Given the description of an element on the screen output the (x, y) to click on. 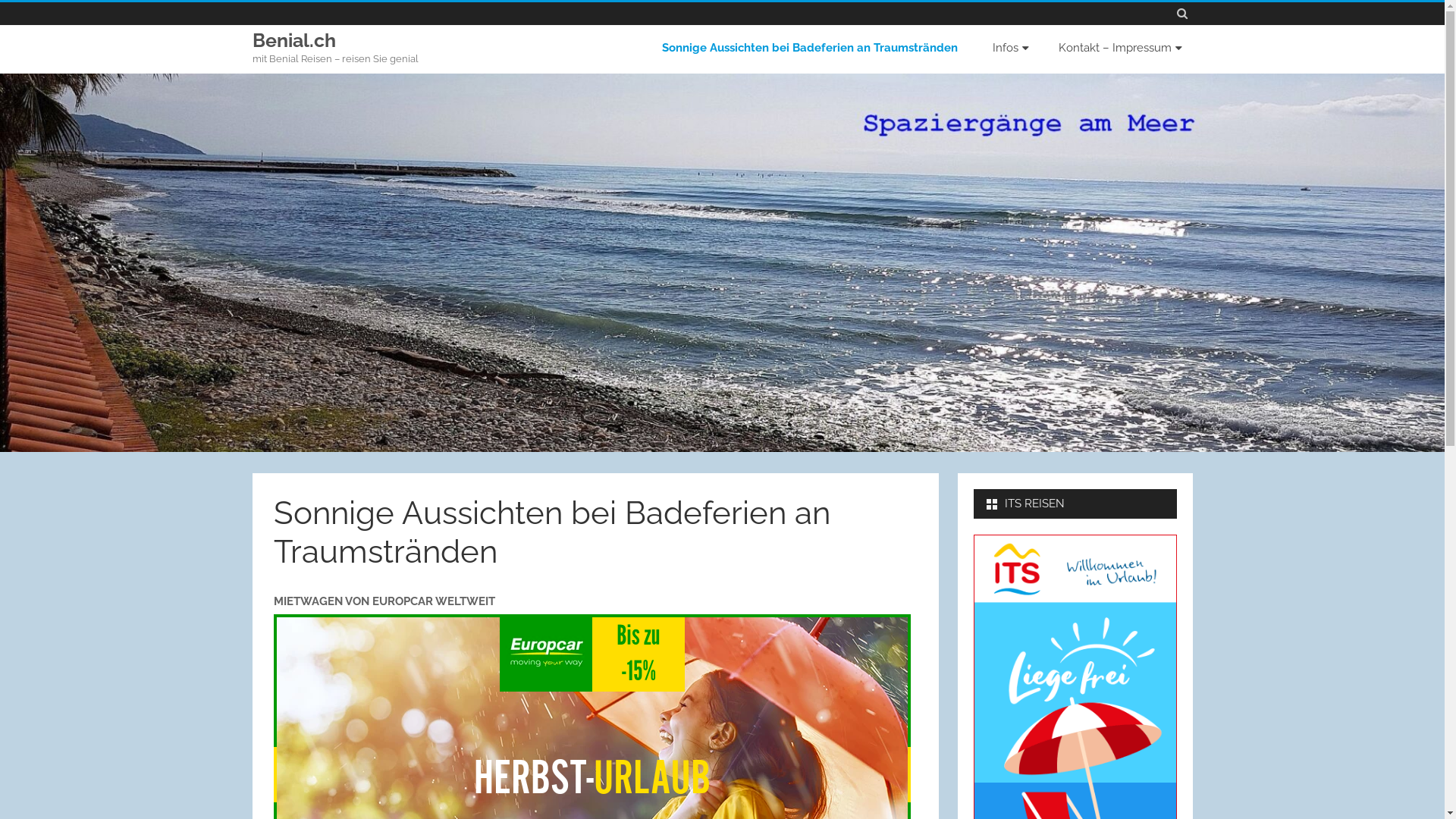
Benial.ch Element type: text (293, 40)
Infos Element type: text (1007, 48)
Skip to content Element type: text (924, 31)
